Given the description of an element on the screen output the (x, y) to click on. 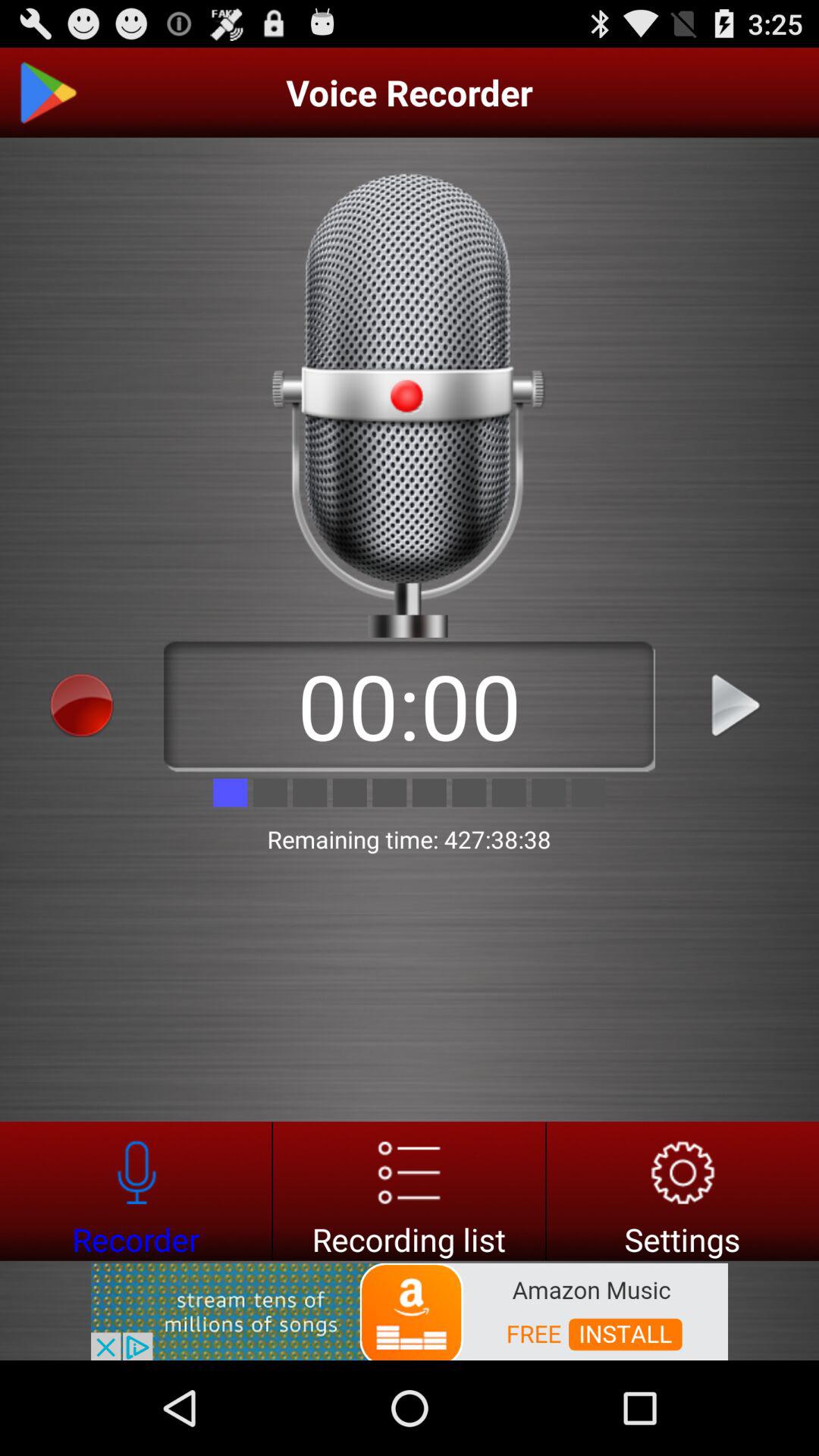
go to previous recordings (409, 1190)
